Given the description of an element on the screen output the (x, y) to click on. 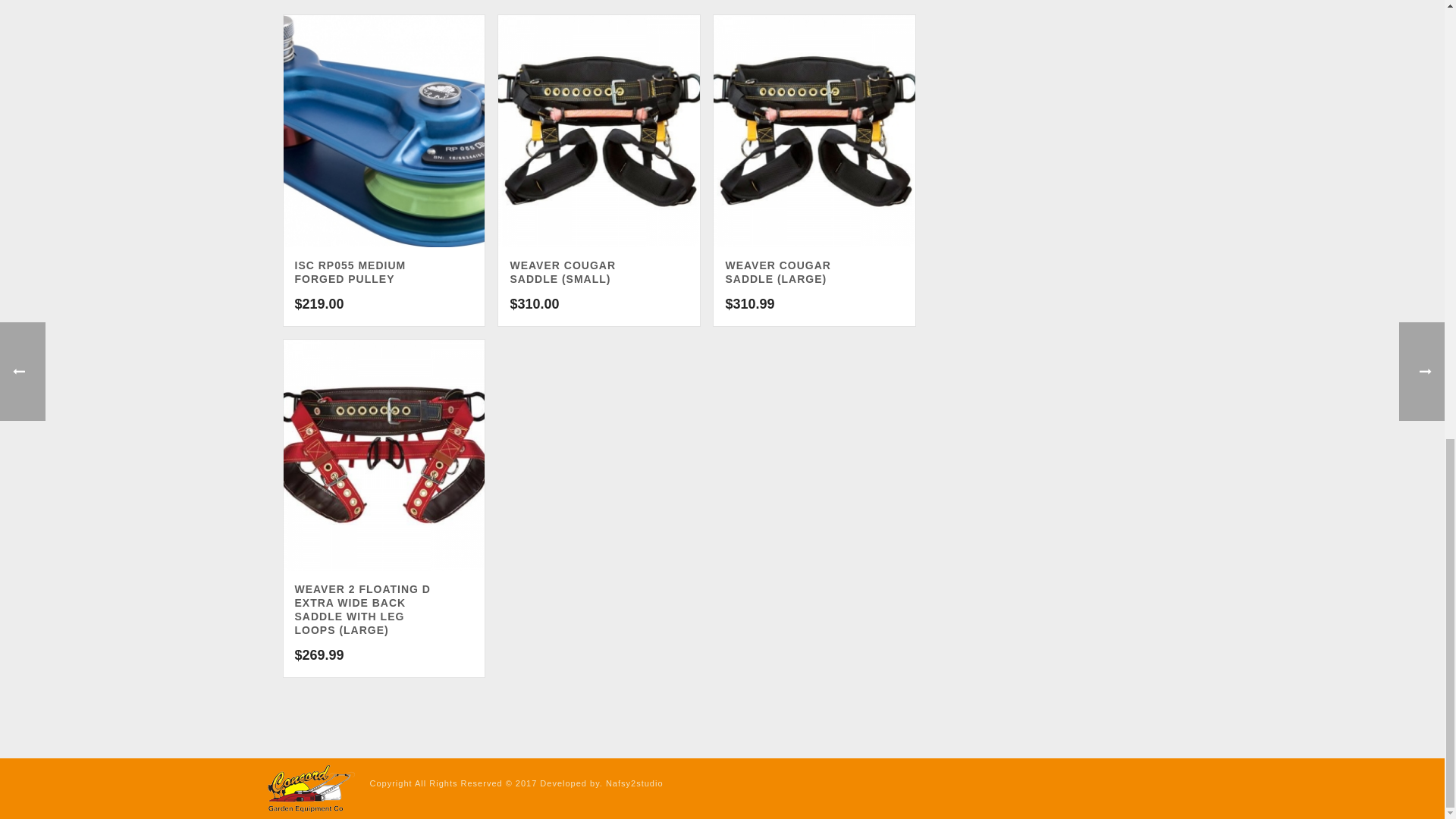
ISC RP055 Medium Forged Pulley (383, 131)
